Given the description of an element on the screen output the (x, y) to click on. 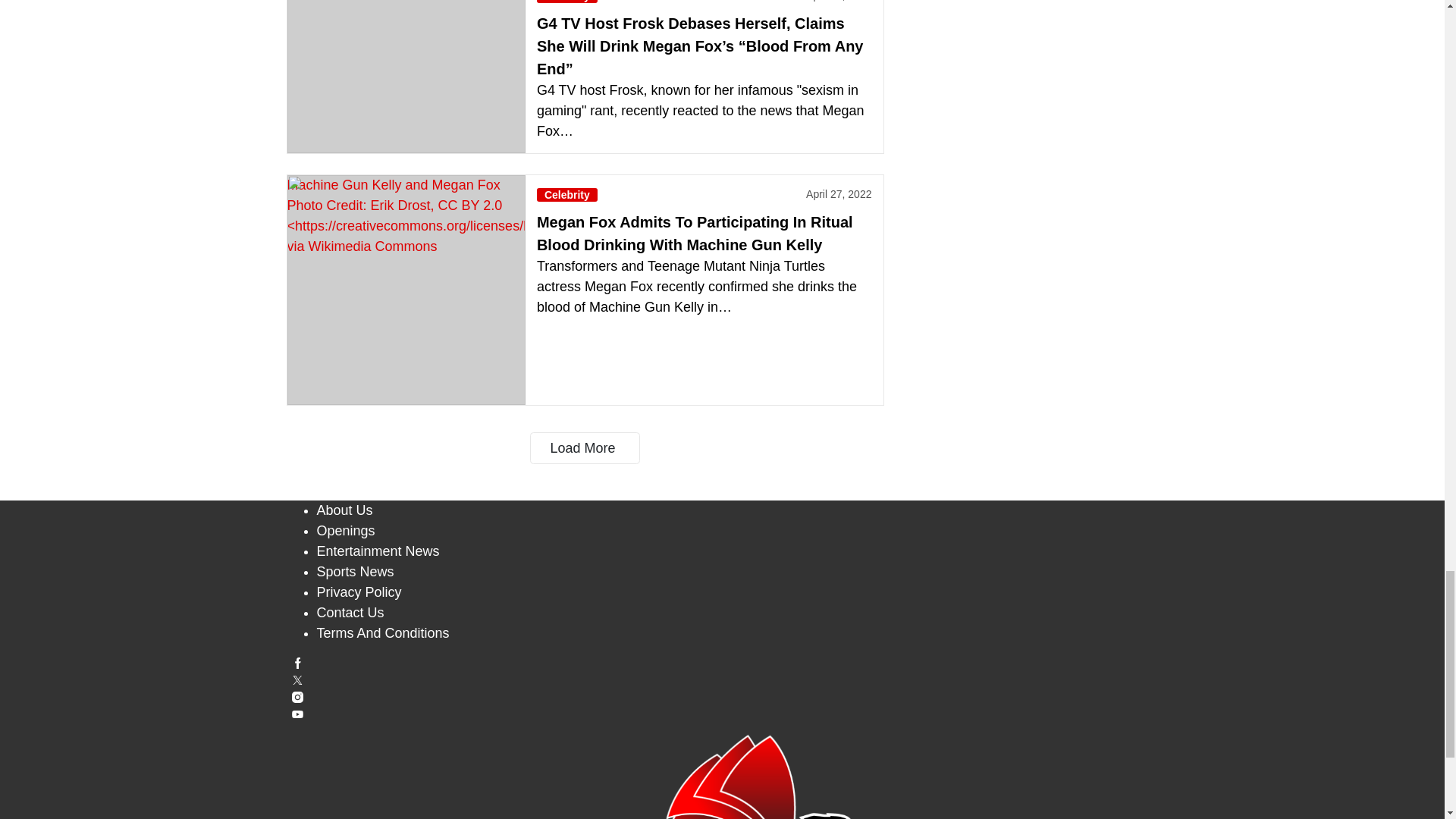
Follow us on Twitter (722, 680)
Subscribe to our YouTube channel (722, 714)
Follow us on Facebook (722, 663)
Follow us on Instagram (722, 696)
